Given the description of an element on the screen output the (x, y) to click on. 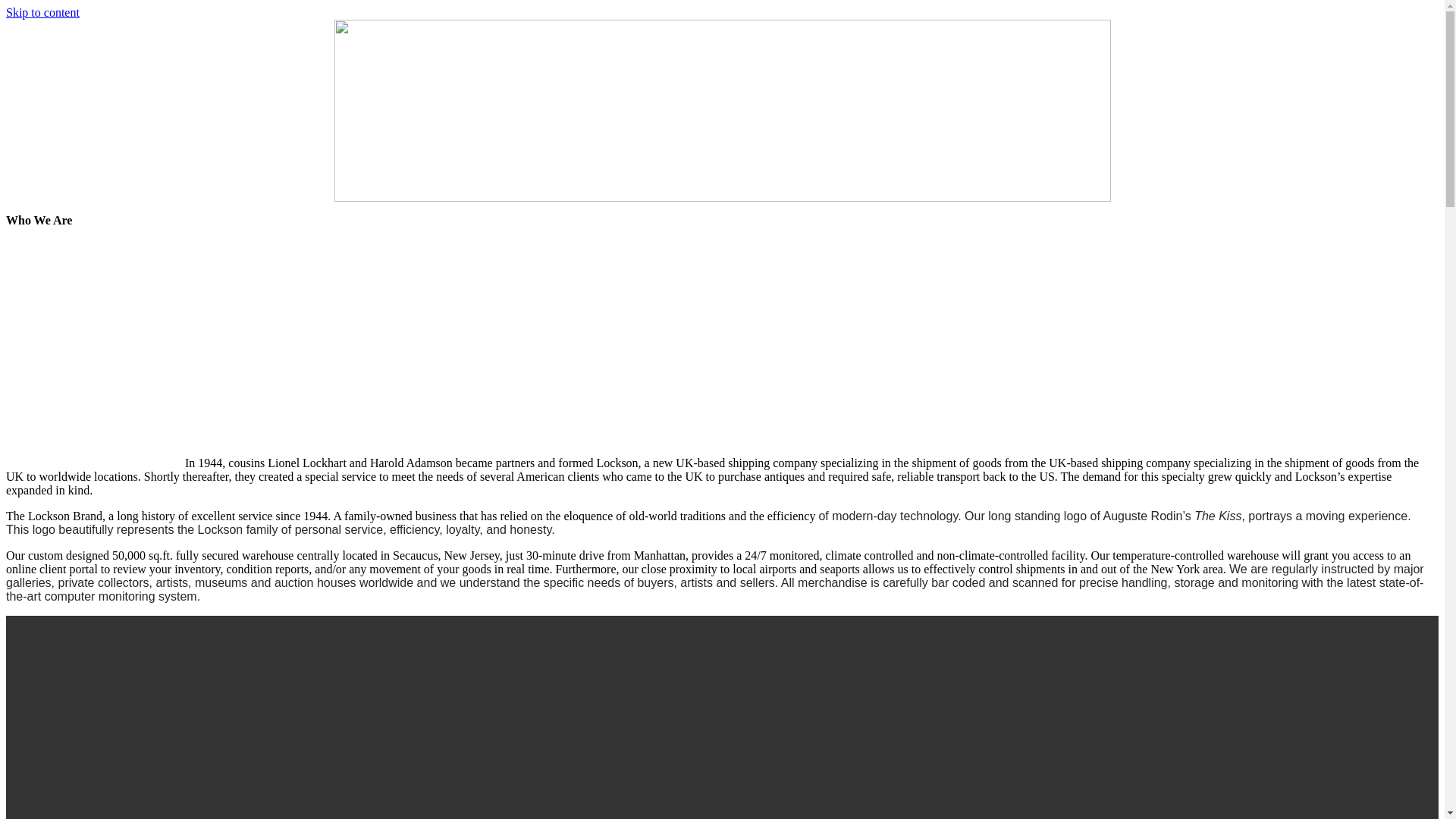
Skip to content (42, 11)
